Given the description of an element on the screen output the (x, y) to click on. 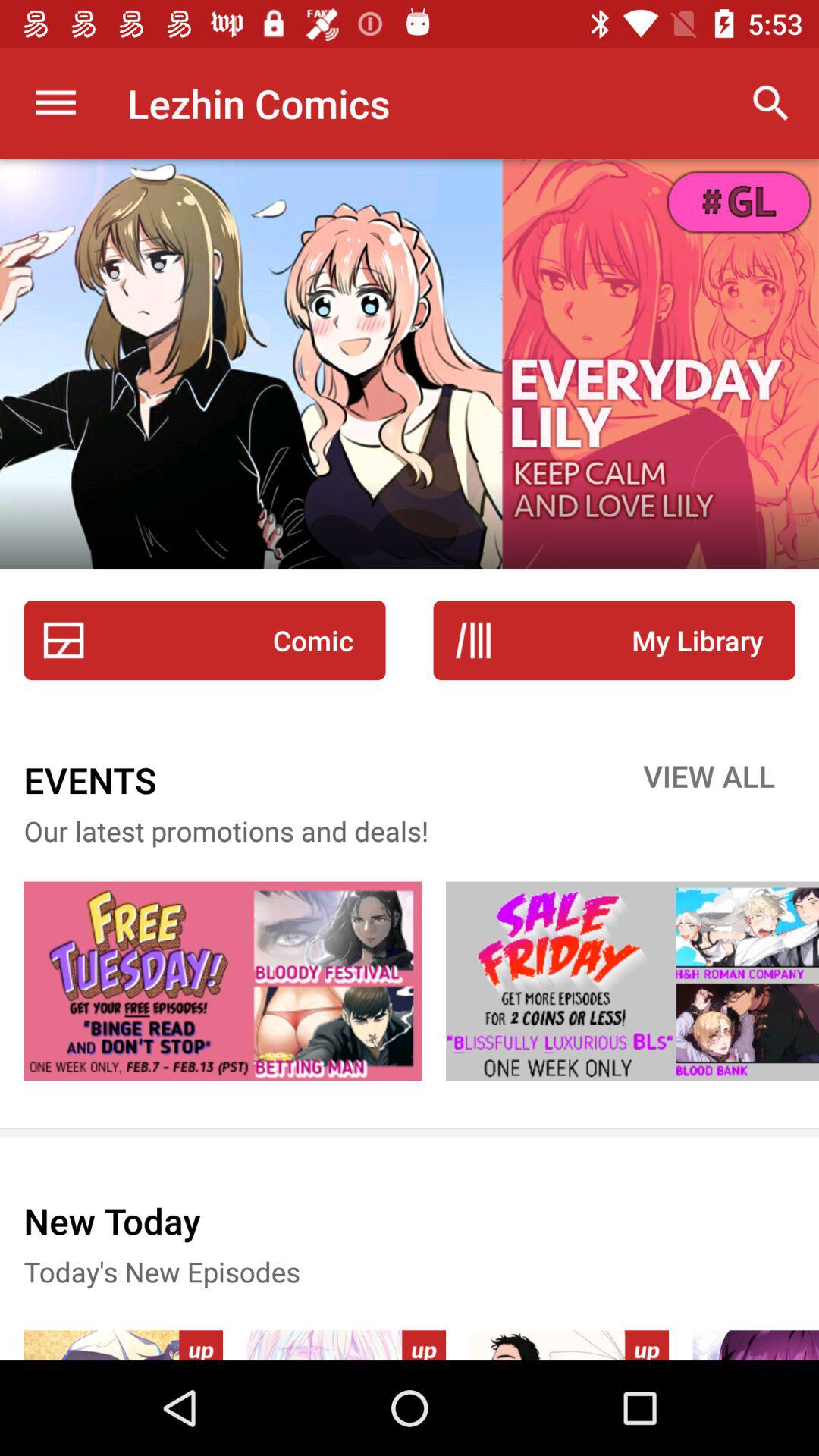
launch the icon above our latest promotions item (709, 779)
